Given the description of an element on the screen output the (x, y) to click on. 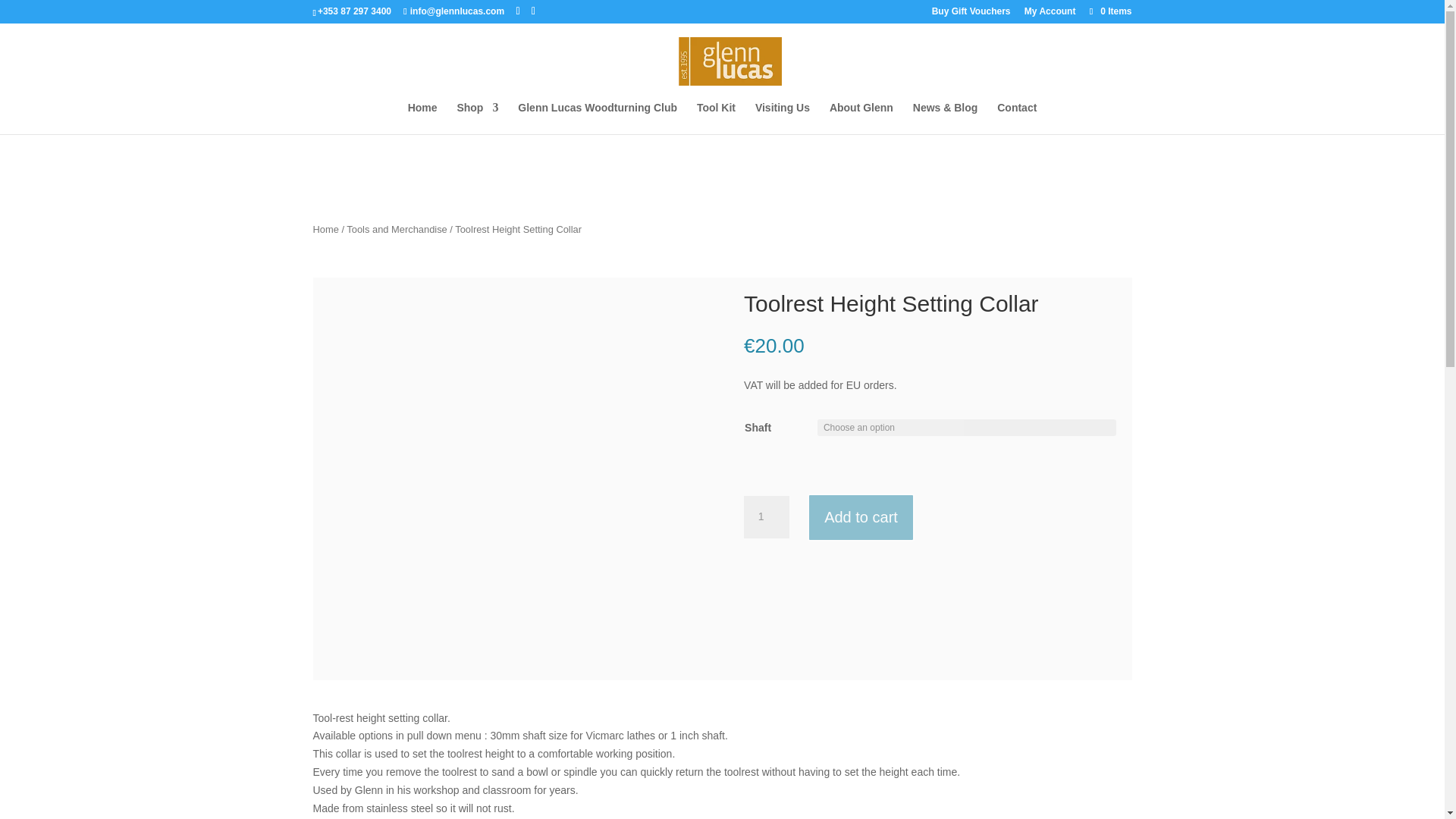
Buy Gift Vouchers (970, 14)
Contact (1016, 118)
Tool Kit (716, 118)
About Glenn (861, 118)
Add to cart (861, 517)
Home (325, 229)
Home (422, 118)
Visiting Us (782, 118)
1 (766, 517)
0 Items (1108, 10)
My Account (1050, 14)
Glenn Lucas Woodturning Club (597, 118)
Tools and Merchandise (396, 229)
Shop (477, 118)
